Given the description of an element on the screen output the (x, y) to click on. 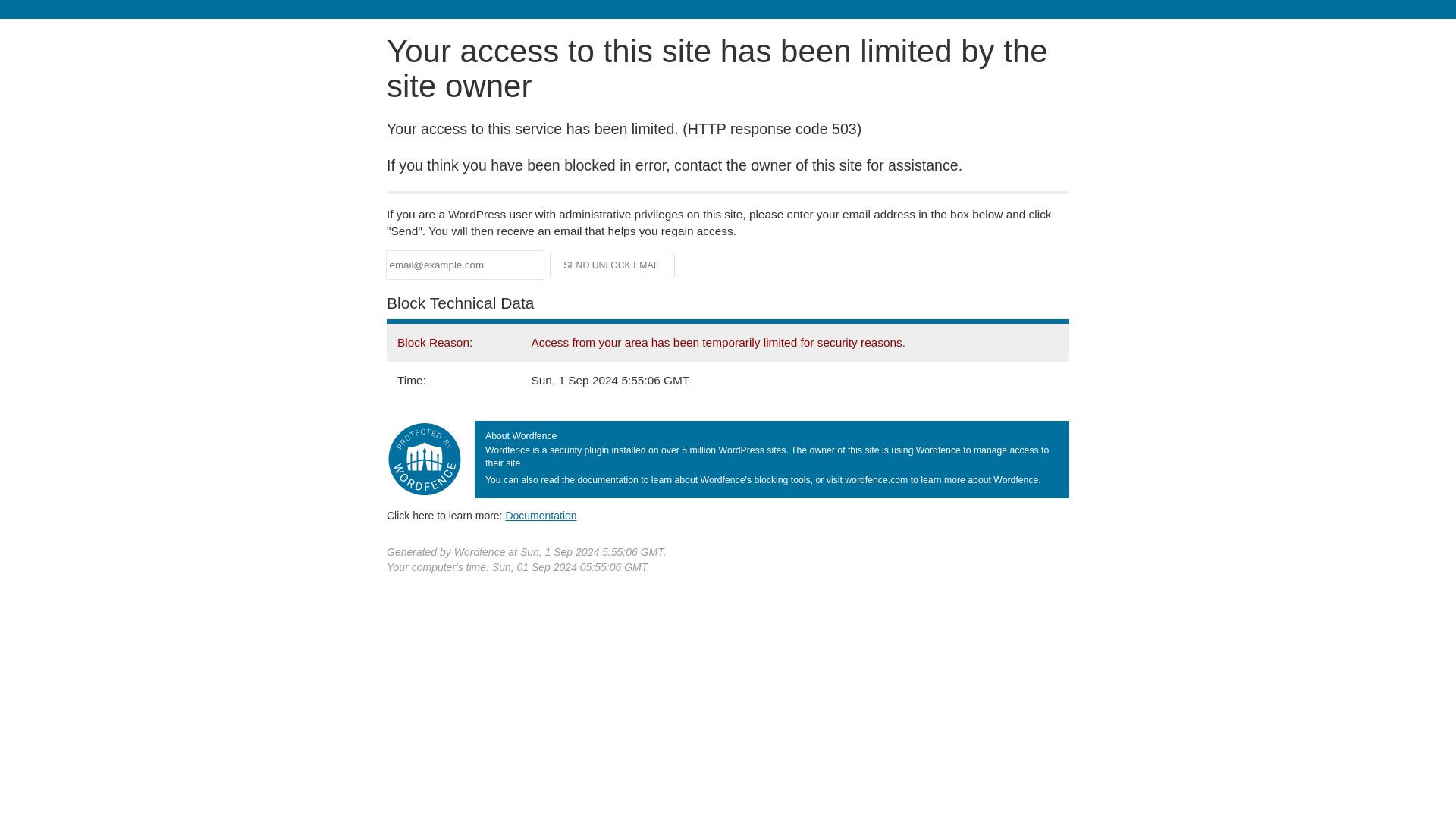
Documentation (540, 515)
Send Unlock Email (612, 265)
Send Unlock Email (612, 265)
